Given the description of an element on the screen output the (x, y) to click on. 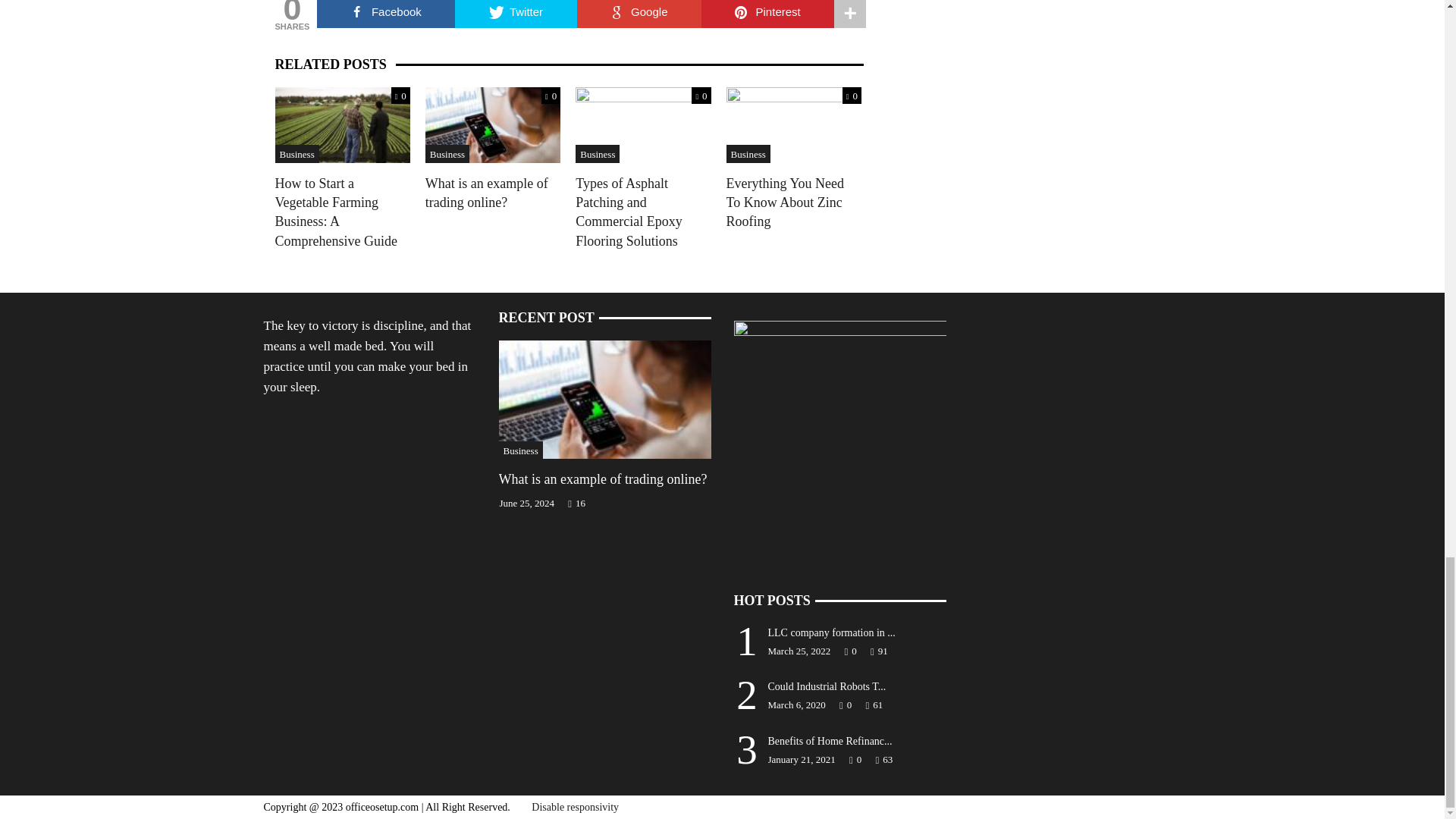
What is an example of trading online? (492, 124)
What is an example of trading online? (605, 398)
Everything You Need To Know About Zinc Roofing (793, 124)
